Given the description of an element on the screen output the (x, y) to click on. 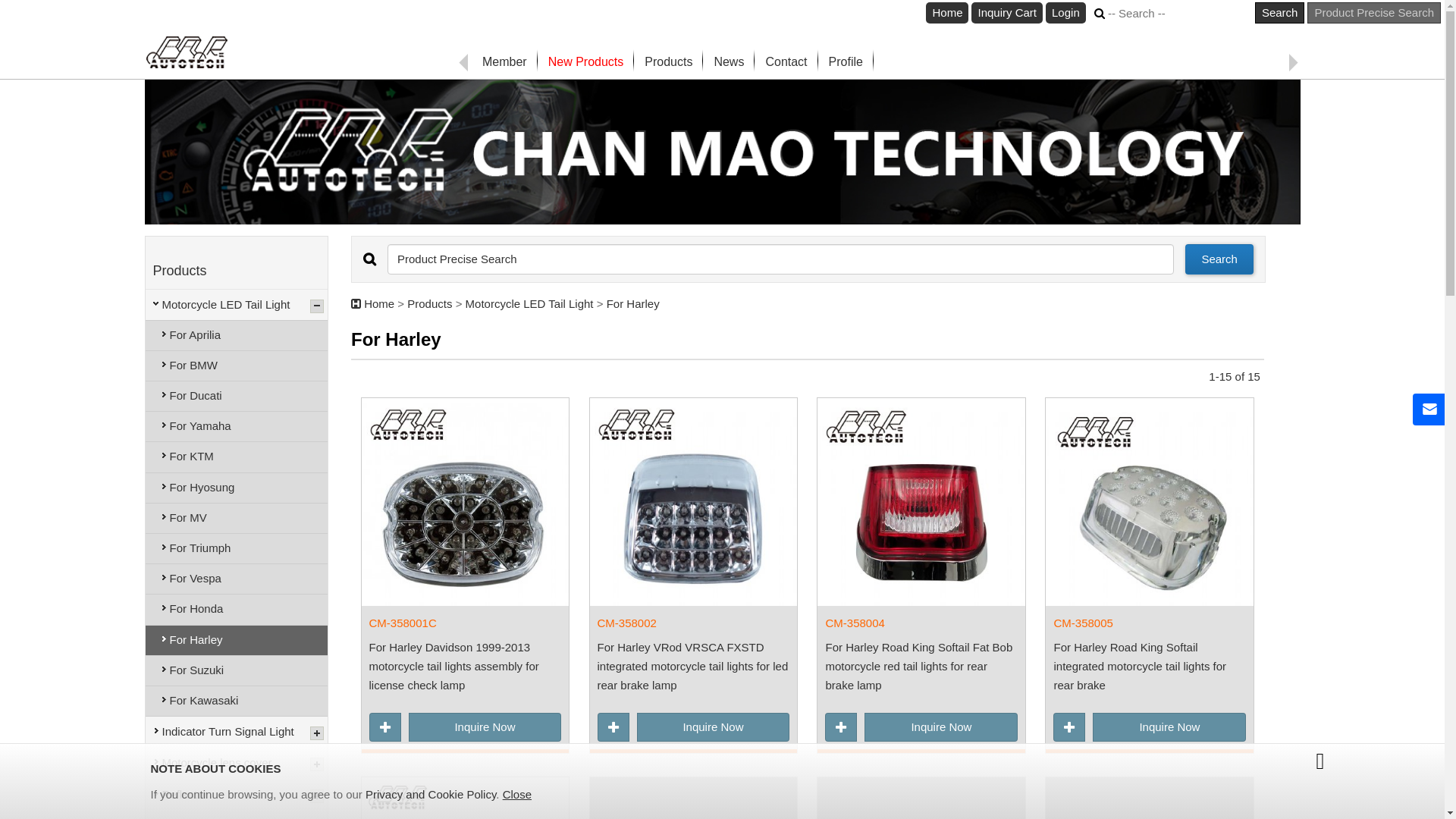
For Harley Element type: text (236, 640)
Close Element type: text (516, 793)
New Products Element type: text (586, 61)
Inquire Now Element type: text (1168, 726)
Contact Element type: text (785, 61)
For Yamaha Element type: text (236, 426)
Add to Inquiry Cart Element type: hover (1069, 726)
Reflector Element type: text (235, 793)
CM-358005 Element type: text (1149, 622)
Add to Inquiry Cart Element type: hover (840, 726)
For Hyosung Element type: text (236, 487)
For Honda Element type: text (236, 609)
License plate light assembly for Harley Davidson Element type: hover (465, 501)
Inquiry Cart Element type: text (1006, 12)
Add to Inquiry Cart Element type: hover (613, 726)
Motorcycle LED Tail Light Element type: text (235, 303)
Bike tail light for Road King Softail Harley Element type: hover (1149, 501)
For KTM Element type: text (236, 456)
Motorcycle lens cover Element type: text (235, 762)
CM-358004 Element type: text (921, 622)
Motorcycle LED Tail Light Element type: text (530, 303)
Login Element type: text (1065, 12)
Inquire Now Element type: text (713, 726)
Products Element type: text (668, 61)
CM-358001C Element type: text (465, 622)
For Kawasaki Element type: text (236, 700)
For Ducati Element type: text (236, 396)
For MV Element type: text (236, 518)
Bike tail light for Road King Softail Element type: hover (921, 501)
Add to Inquiry Cart Element type: hover (385, 726)
Home Element type: text (946, 12)
CM-358002 Element type: text (693, 622)
Search Element type: text (1219, 259)
Profile Element type: text (845, 61)
For Suzuki Element type: text (236, 670)
Product Precise Search Element type: text (1373, 12)
Inquire Now Element type: text (484, 726)
Home Element type: text (379, 303)
For Aprilia Element type: text (236, 335)
Member Element type: text (504, 61)
Privacy and Cookie Policy Element type: text (430, 793)
For Harley Element type: text (632, 303)
Products Element type: text (429, 303)
Inquire Now Element type: text (940, 726)
Indicator Turn Signal Light Element type: text (235, 730)
For BMW Element type: text (236, 365)
Contact Us Element type: hover (1428, 409)
For Triumph Element type: text (236, 548)
Search Element type: text (1280, 12)
News Element type: text (728, 61)
For Vespa Element type: text (236, 578)
Chopper taillight for Harley VRod VRSCA FXSTD Element type: hover (693, 501)
